Given the description of an element on the screen output the (x, y) to click on. 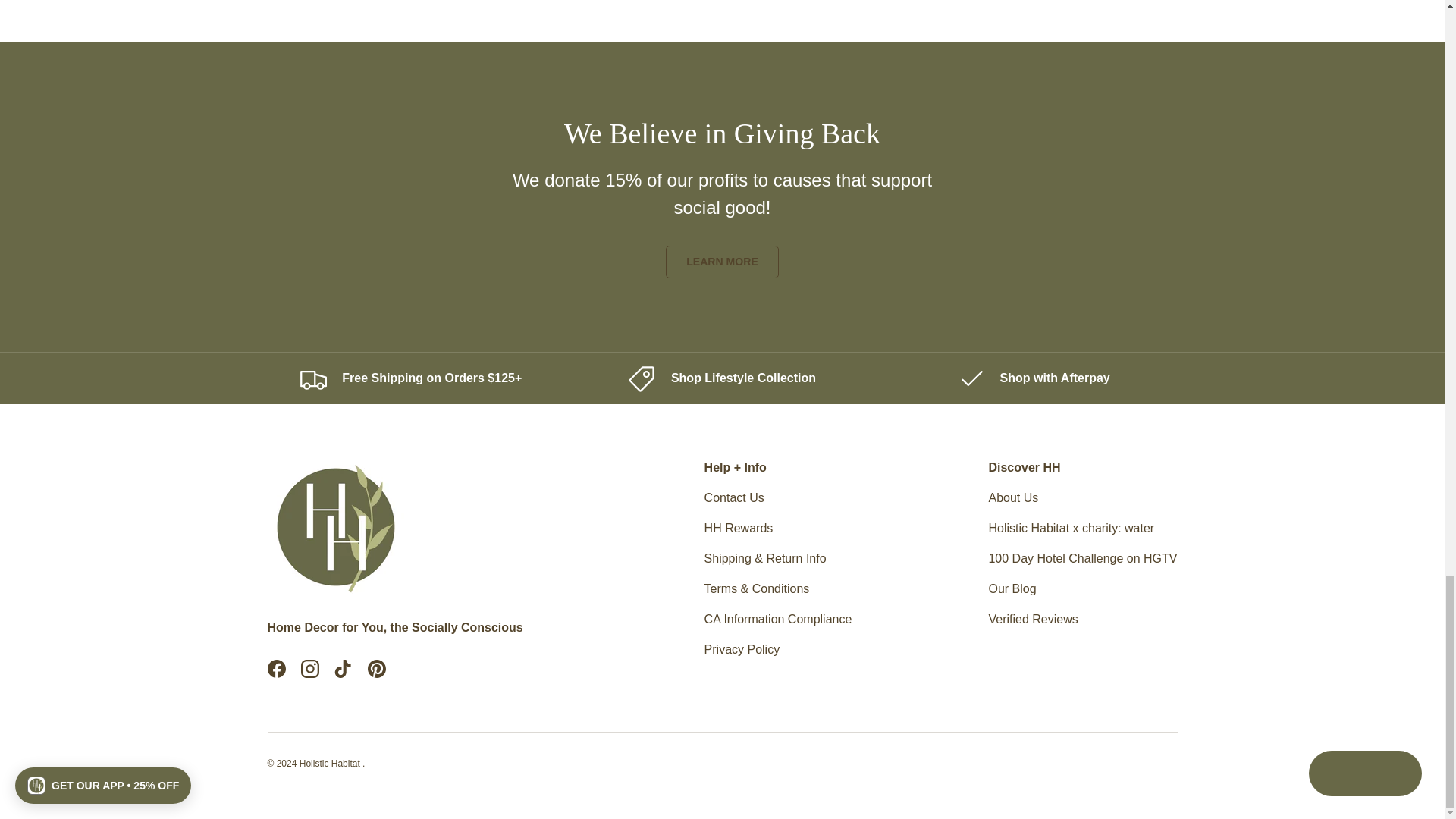
Holistic Habitat  on Facebook (275, 668)
Holistic Habitat  on TikTok (342, 668)
Holistic Habitat  on Pinterest (376, 668)
Holistic Habitat  on Instagram (309, 668)
